Given the description of an element on the screen output the (x, y) to click on. 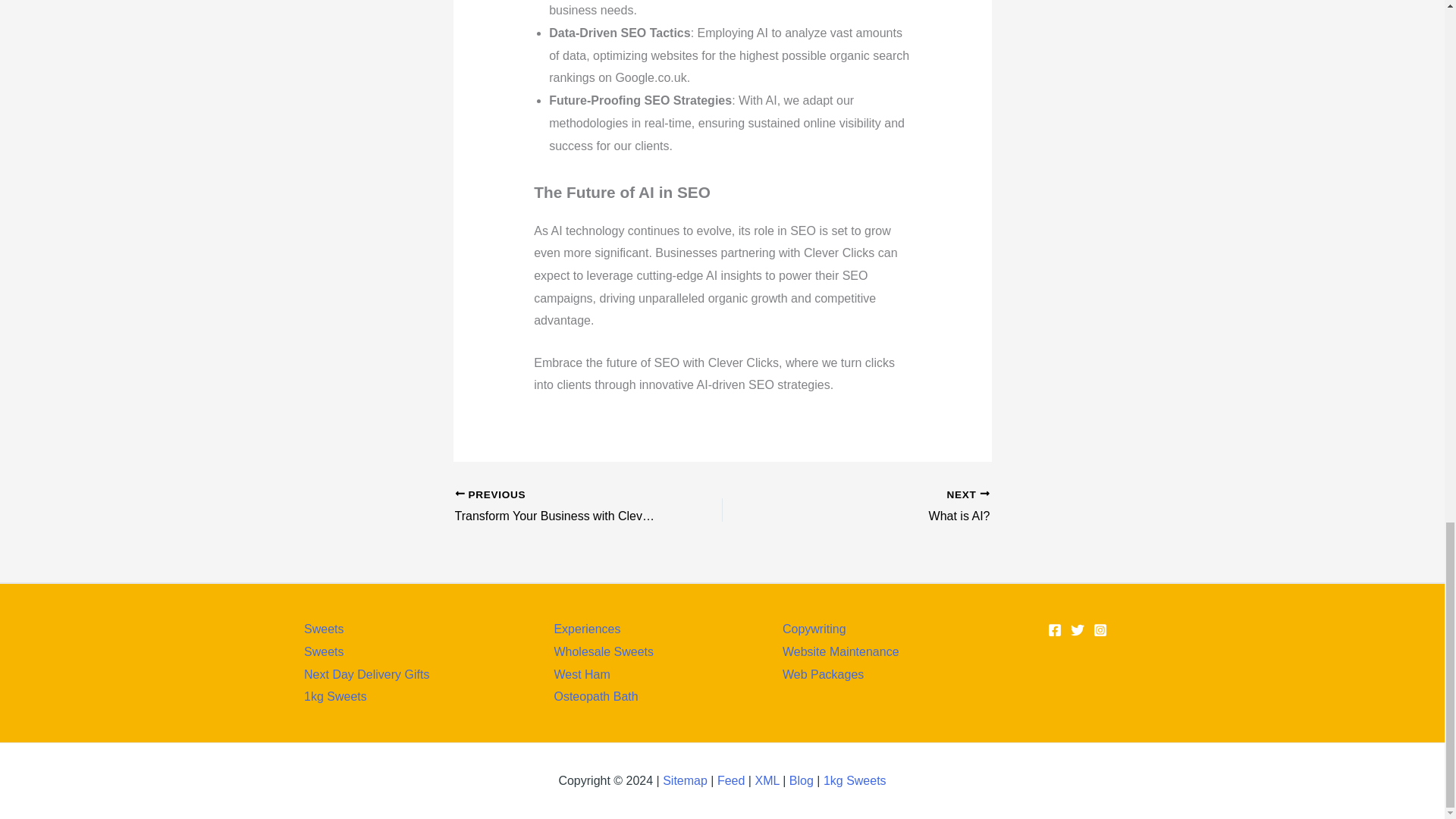
What is AI? (882, 507)
1kg Sweets (855, 780)
